Given the description of an element on the screen output the (x, y) to click on. 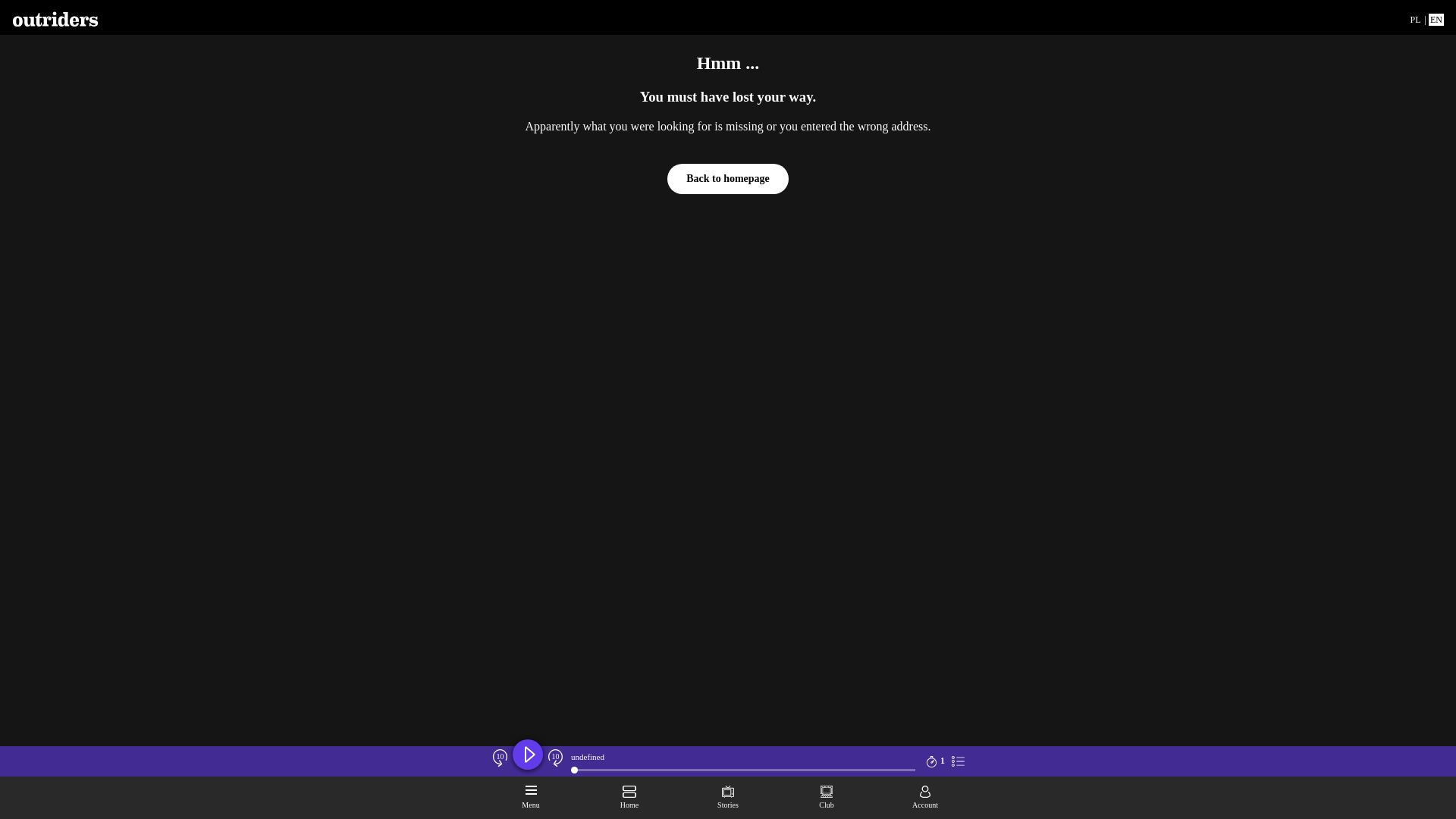
Back to homepage (727, 178)
EN (1436, 19)
PL (1415, 19)
